Given the description of an element on the screen output the (x, y) to click on. 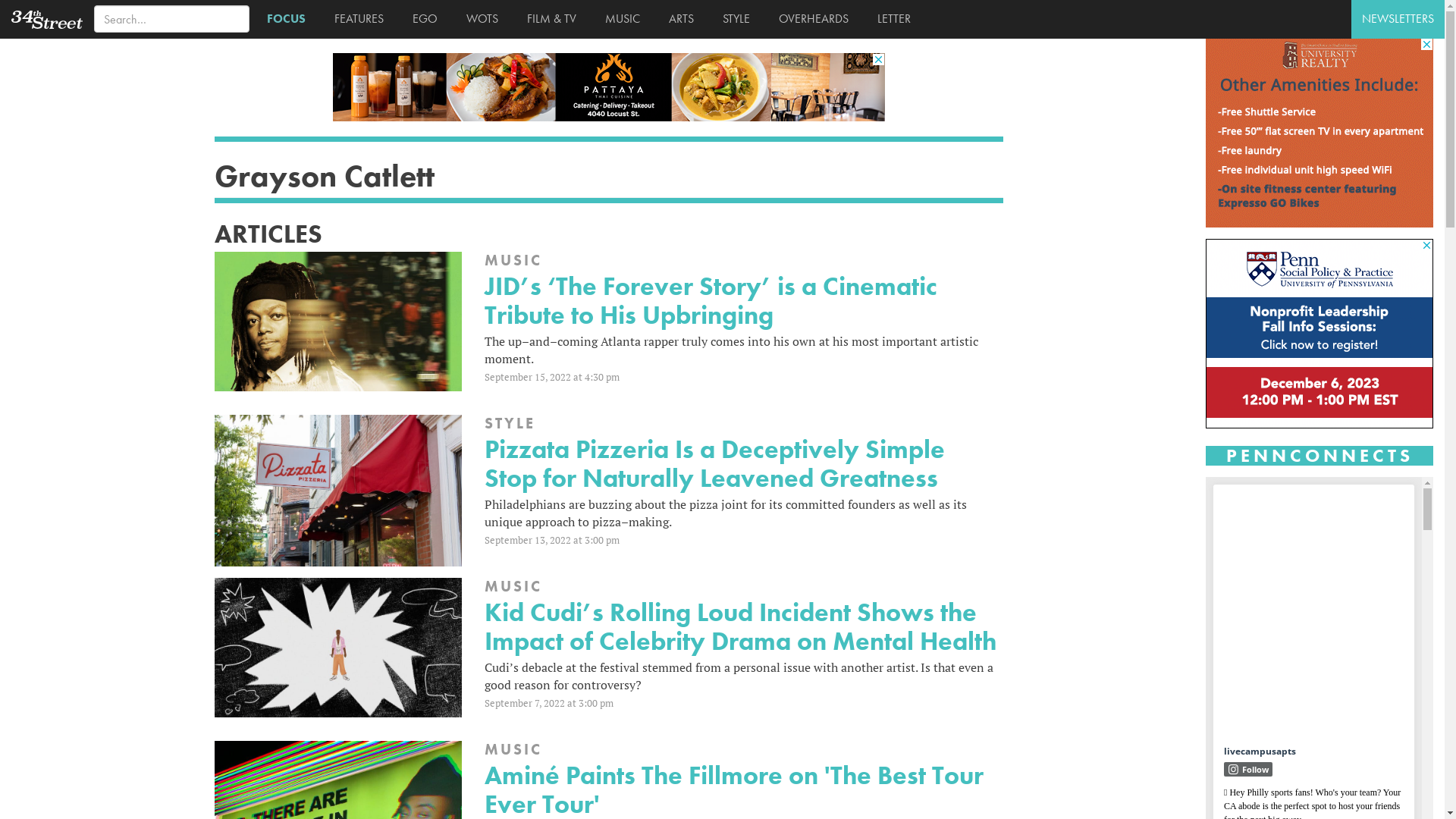
  EGO Element type: text (421, 18)
  FOCUS Element type: text (282, 18)
  LETTER Element type: text (890, 18)
  FEATURES Element type: text (355, 18)
  FILM & TV Element type: text (548, 18)
3rd party ad content Element type: hover (1319, 132)
  OVERHEARDS Element type: text (810, 18)
  ARTS Element type: text (678, 18)
3rd party ad content Element type: hover (608, 87)
  MUSIC Element type: text (619, 18)
  WOTS Element type: text (478, 18)
  STYLE Element type: text (733, 18)
NEWSLETTERS Element type: text (1397, 19)
3rd party ad content Element type: hover (1319, 333)
